Given the description of an element on the screen output the (x, y) to click on. 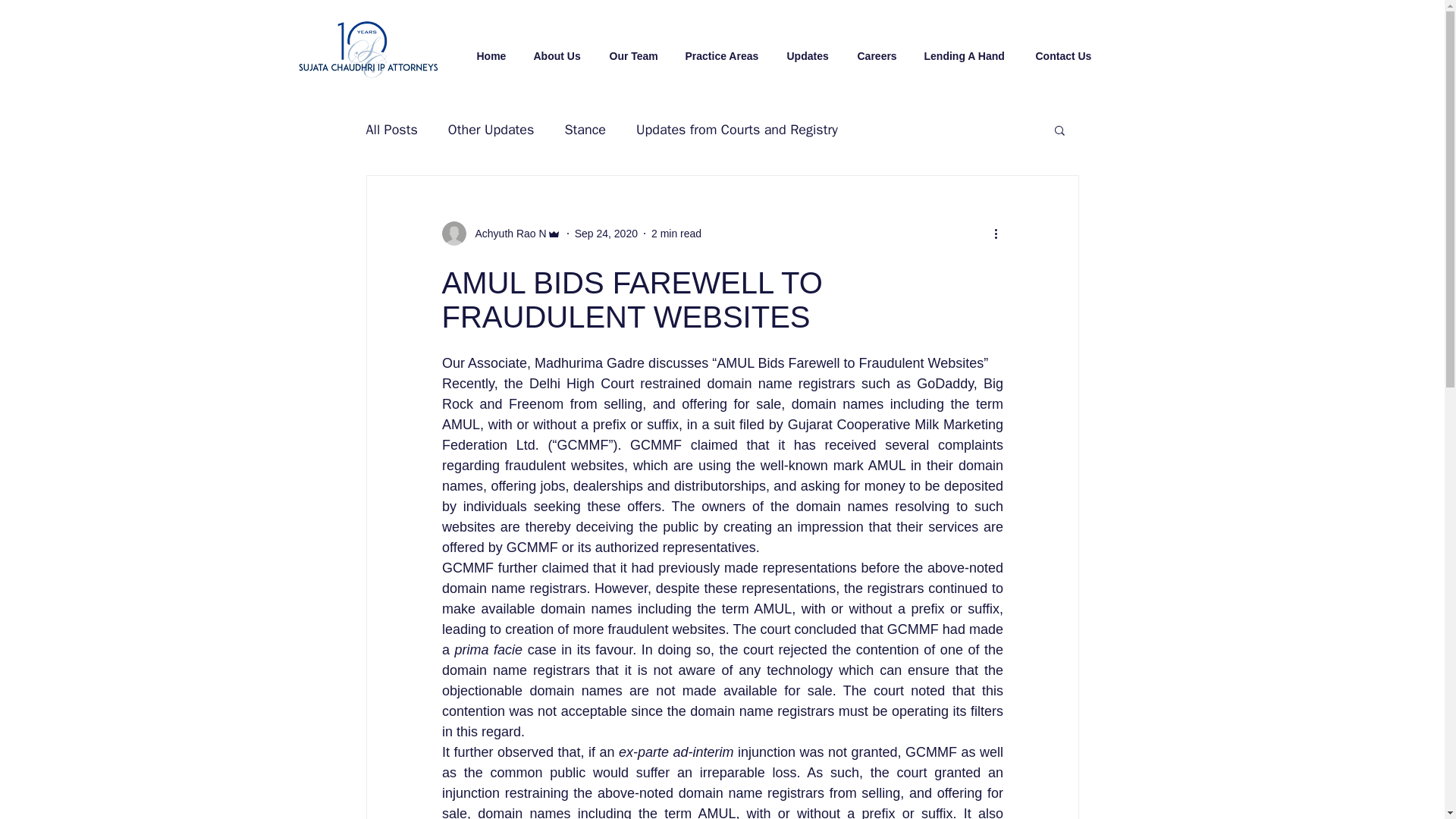
Achyuth Rao N (500, 233)
Practice Areas (722, 49)
About Us (557, 49)
Our Team (633, 49)
Careers (876, 49)
Sep 24, 2020 (606, 233)
Contact Us (1064, 49)
Lending A Hand (966, 49)
Stance (584, 129)
Other Updates (491, 129)
